Given the description of an element on the screen output the (x, y) to click on. 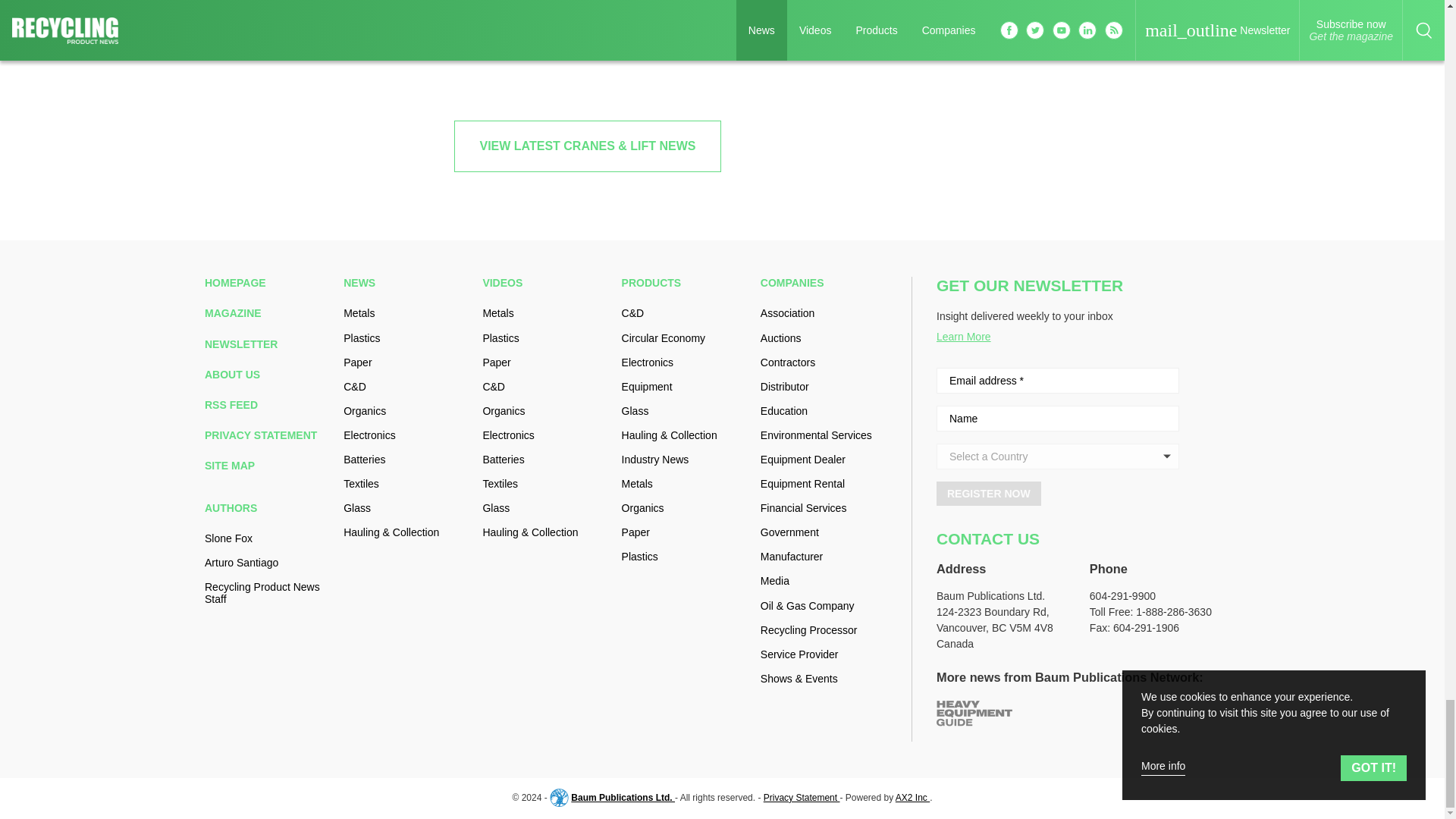
NEWSLETTER (268, 344)
MAGAZINE (268, 313)
HOMEPAGE (268, 282)
PRIVACY STATEMENT (268, 435)
ABOUT US (268, 374)
RSS FEED (268, 404)
